Given the description of an element on the screen output the (x, y) to click on. 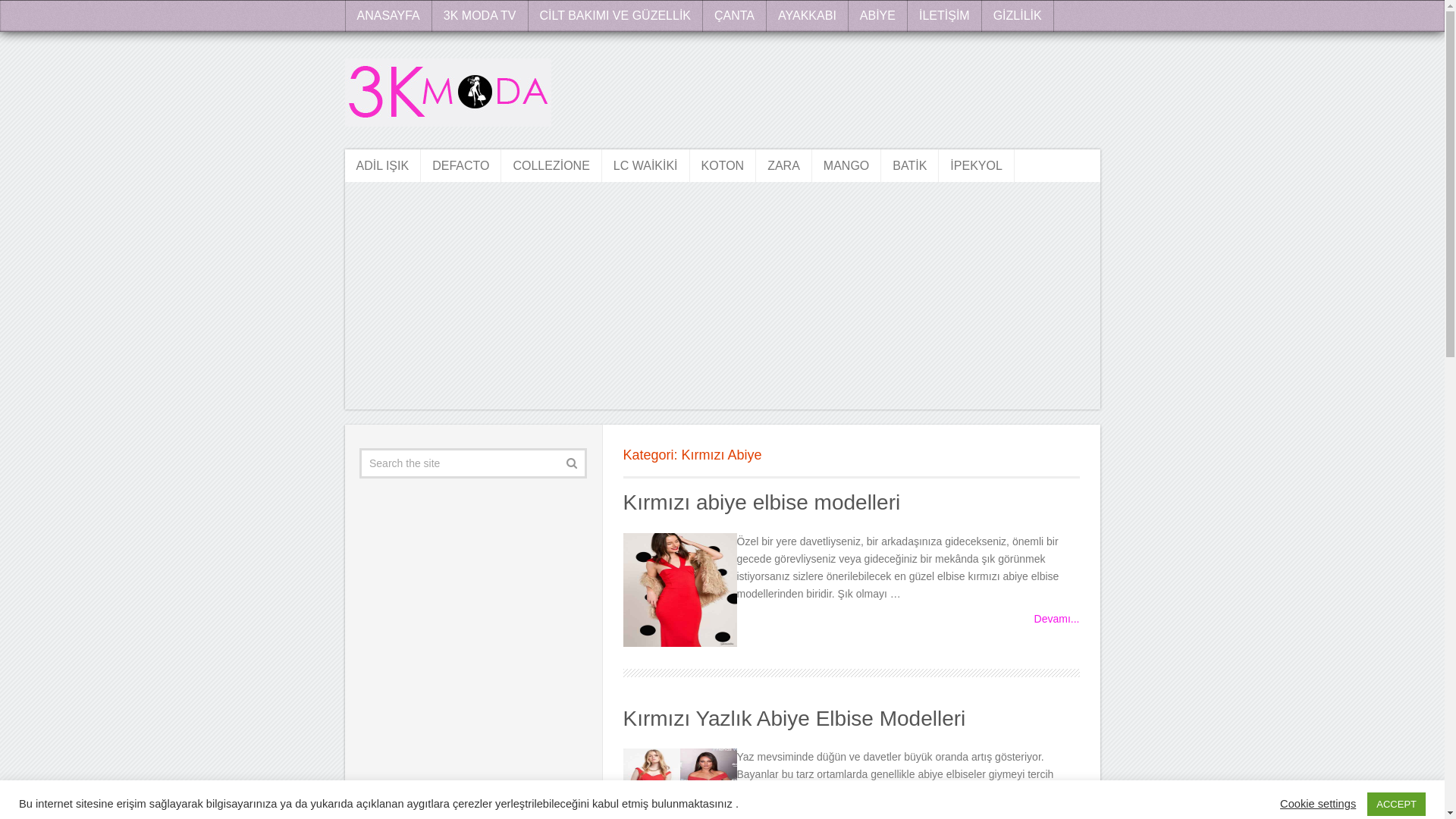
ANASAYFA Element type: text (387, 15)
ABIYE Element type: text (877, 15)
DEFACTO Element type: text (460, 165)
AYAKKABI Element type: text (807, 15)
ACCEPT Element type: text (1396, 792)
MANGO Element type: text (846, 165)
BATIK Element type: text (909, 165)
LC WAIKIKI Element type: text (646, 165)
KOTON Element type: text (723, 165)
COLLEZIONE Element type: text (551, 165)
Cookie settings Element type: text (1317, 792)
GIZLILIK Element type: text (1018, 15)
Advertisement Element type: hover (721, 303)
3K MODA TV Element type: text (480, 15)
ZARA Element type: text (784, 165)
